Given the description of an element on the screen output the (x, y) to click on. 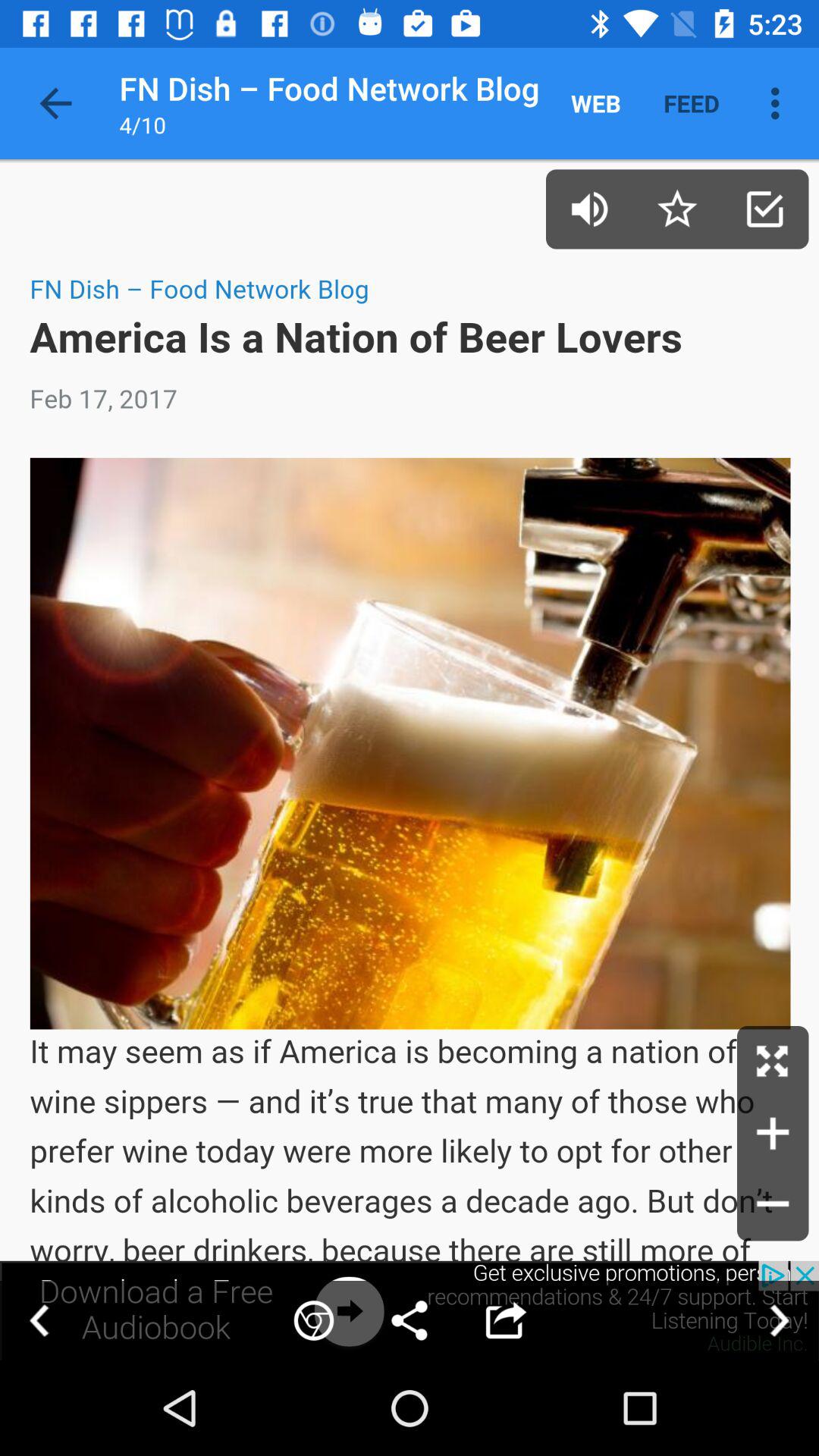
turn on music (589, 209)
